Given the description of an element on the screen output the (x, y) to click on. 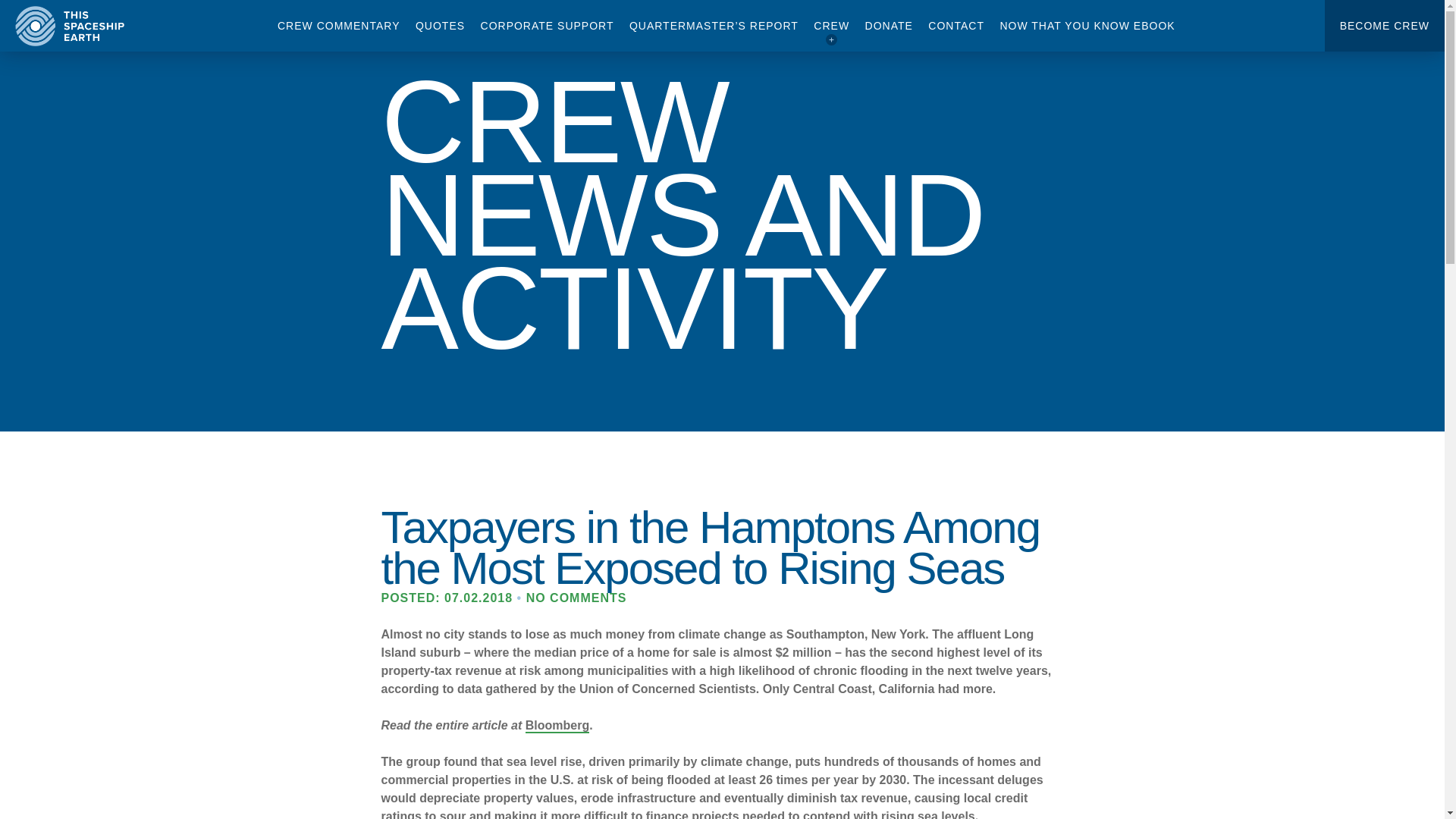
CONTACT (956, 25)
NO COMMENTS (576, 597)
QUOTES (440, 25)
DONATE (889, 25)
CREW (831, 25)
CREW COMMENTARY (338, 25)
Bloomberg (557, 726)
NOW THAT YOU KNOW EBOOK (1086, 25)
CORPORATE SUPPORT (547, 25)
